Given the description of an element on the screen output the (x, y) to click on. 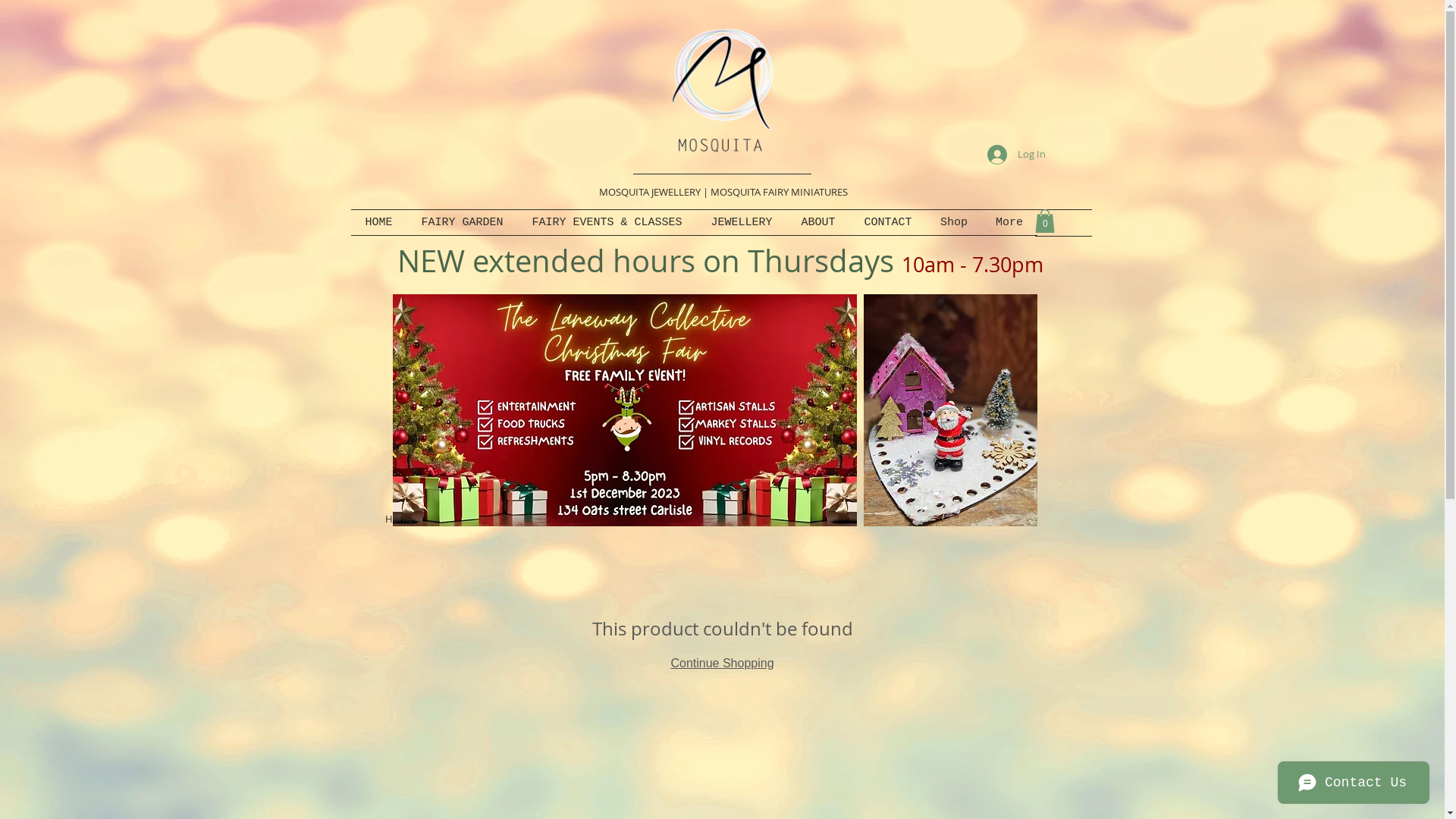
Shop Element type: text (954, 222)
MOSQUITA FAIRY MINIATURES Element type: text (778, 191)
ABOUT Element type: text (818, 222)
CONTACT Element type: text (887, 222)
FB_IMG_1698818329180.jpg Element type: hover (624, 410)
FAIRY GARDEN Element type: text (461, 222)
MOSQUITA JEWELLERY Element type: text (649, 191)
Continue Shopping Element type: text (721, 662)
Log In Element type: text (1016, 153)
Home Element type: text (399, 518)
0 Element type: text (1044, 220)
HOME Element type: text (378, 222)
